Given the description of an element on the screen output the (x, y) to click on. 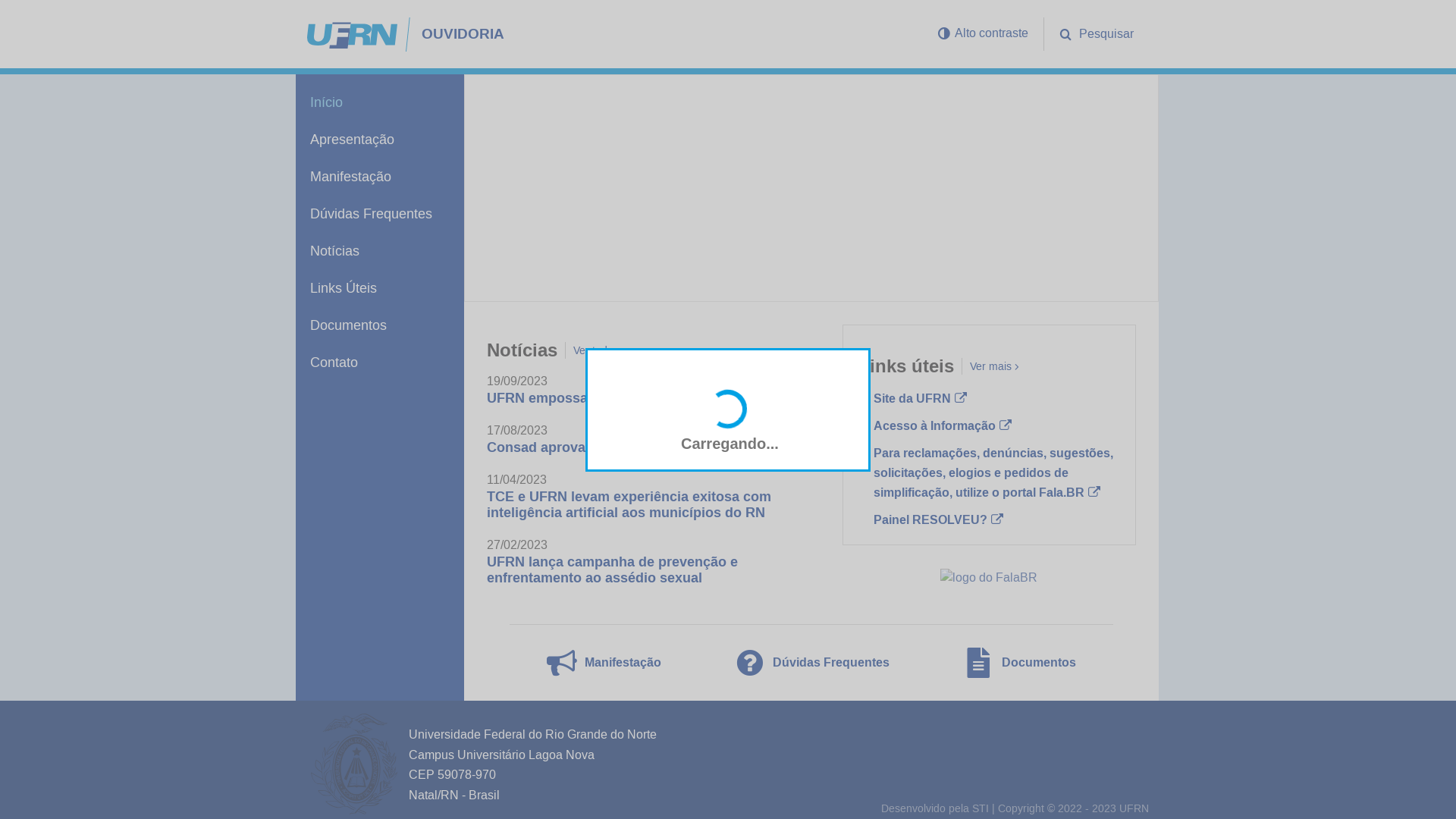
Documentos Element type: text (379, 325)
Alto contraste Element type: text (982, 32)
Ver mais Element type: text (991, 365)
Alterar para o modo de contraste Element type: hover (943, 32)
OUVIDORIA Element type: text (616, 33)
STI Element type: text (980, 808)
Contato Element type: text (379, 362)
Painel RESOLVEU? Element type: text (938, 519)
Documentos Element type: text (1019, 662)
Site da UFRN Element type: text (919, 398)
Pesquisar Element type: text (1095, 33)
Ver todas Element type: text (596, 350)
Universidade Federal do Rio Grande do Norte Element type: text (532, 734)
Acesse o portal do Fala.BR Element type: hover (988, 576)
